Given the description of an element on the screen output the (x, y) to click on. 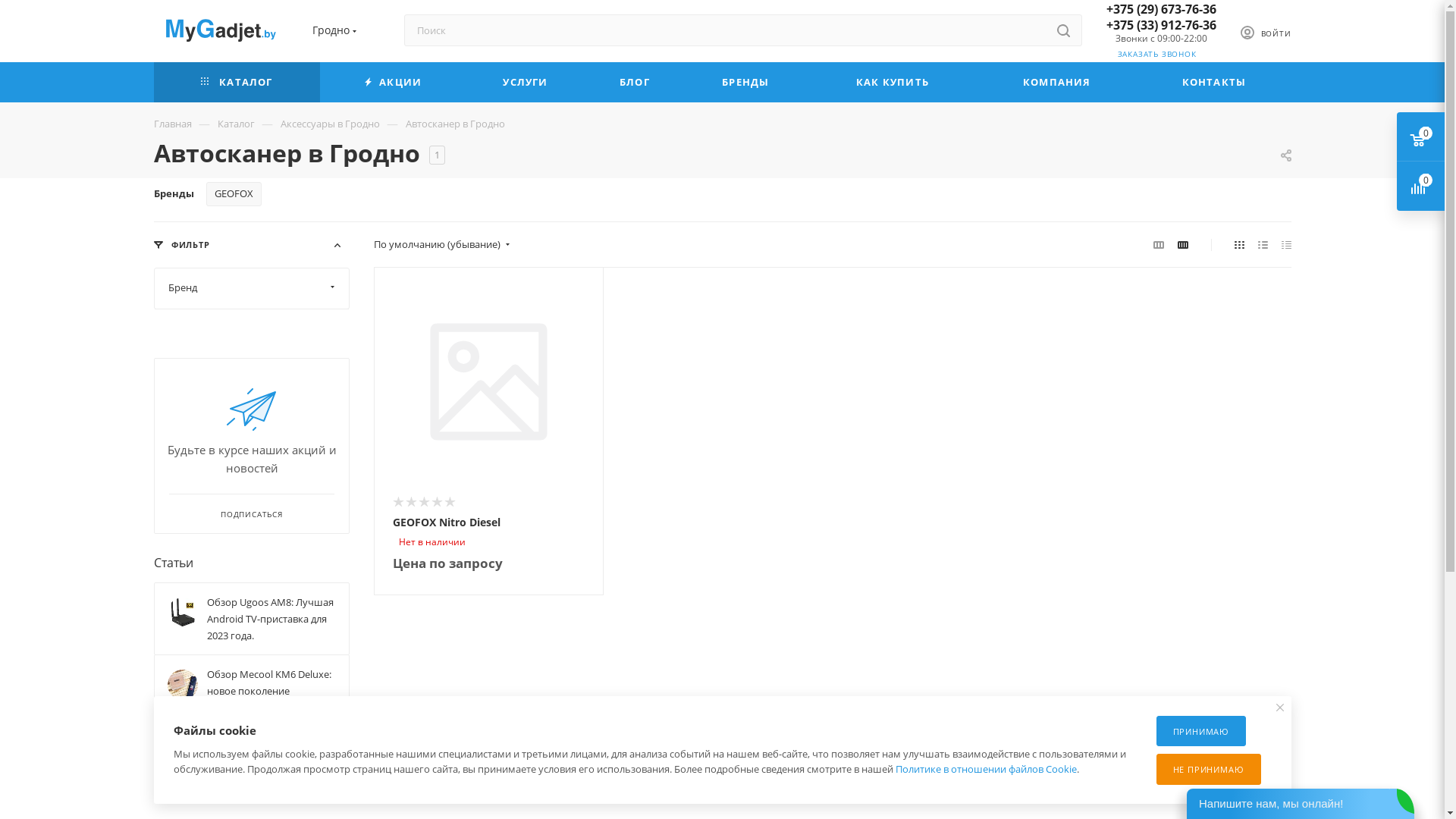
GEOFOX Nitro Diesel Element type: text (446, 521)
+375 (29) 673-76-36 Element type: text (1160, 8)
GEOFOX Nitro Diesel Element type: hover (488, 381)
+375 (33) 912-76-36 Element type: text (1160, 24)
GEOFOX Element type: text (233, 194)
